Given the description of an element on the screen output the (x, y) to click on. 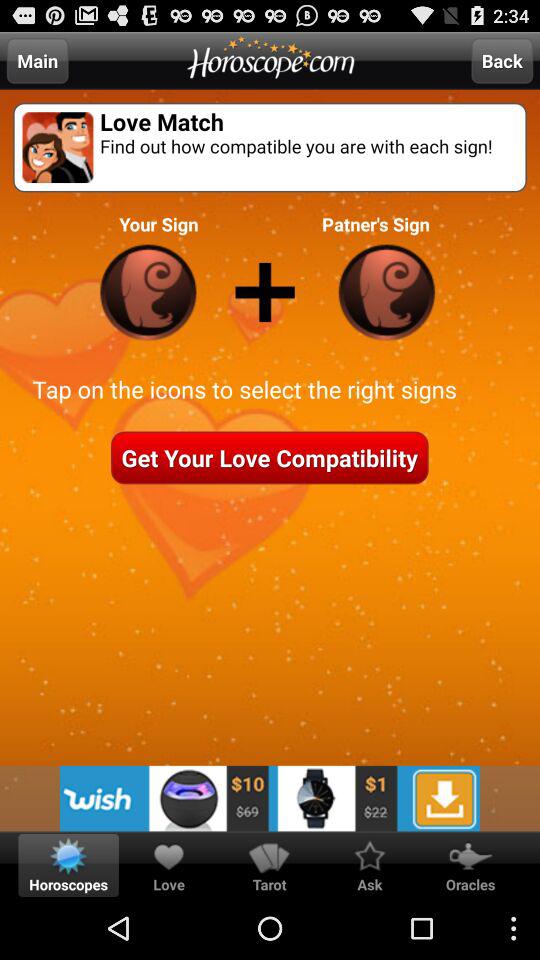
signature (147, 292)
